Given the description of an element on the screen output the (x, y) to click on. 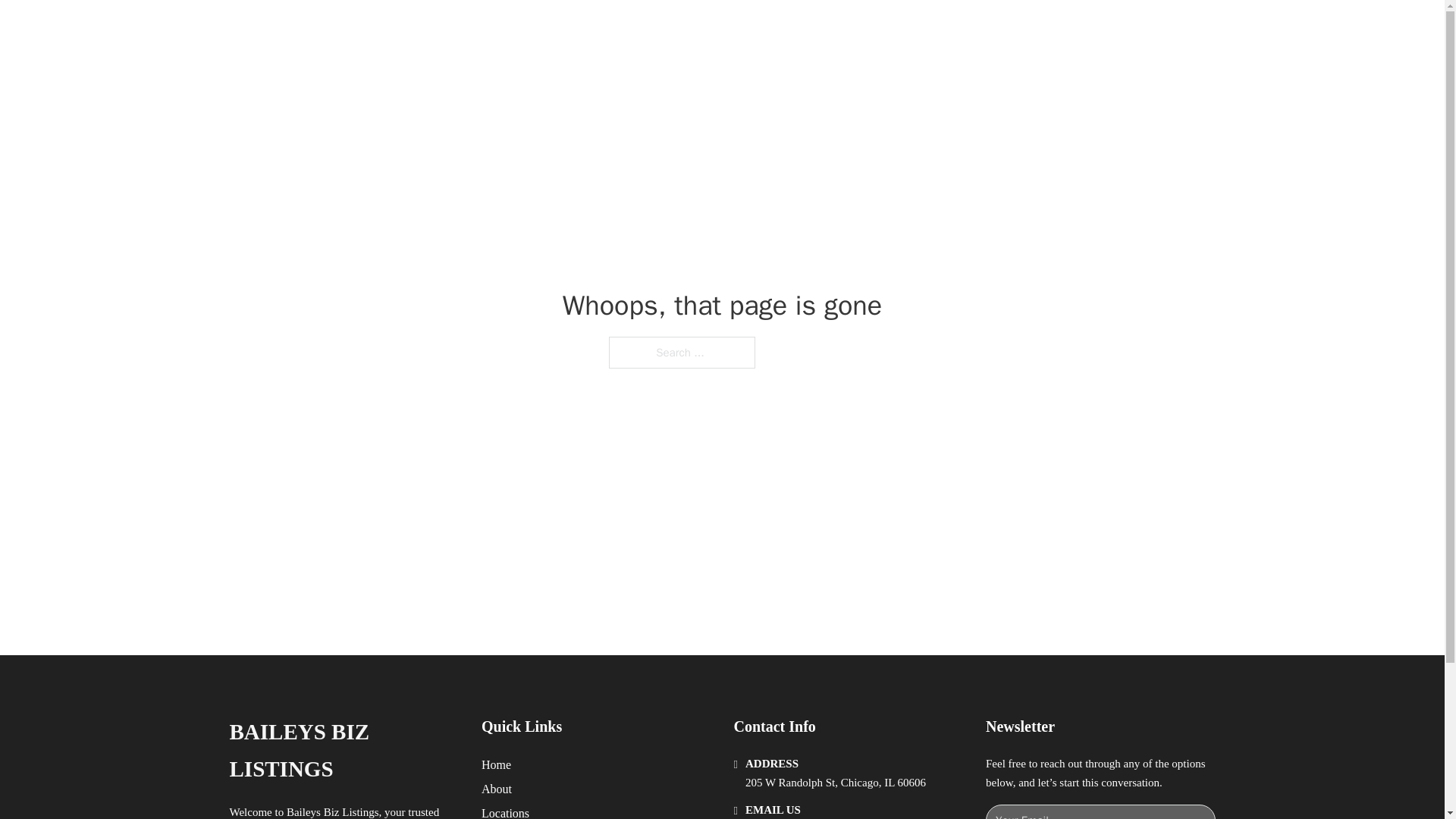
About (496, 788)
BAILEYS BIZ LISTINGS (343, 750)
Home (496, 764)
HOME (919, 29)
LOCATIONS (990, 29)
Locations (505, 811)
BAILEYS BIZ LISTINGS (419, 28)
